Given the description of an element on the screen output the (x, y) to click on. 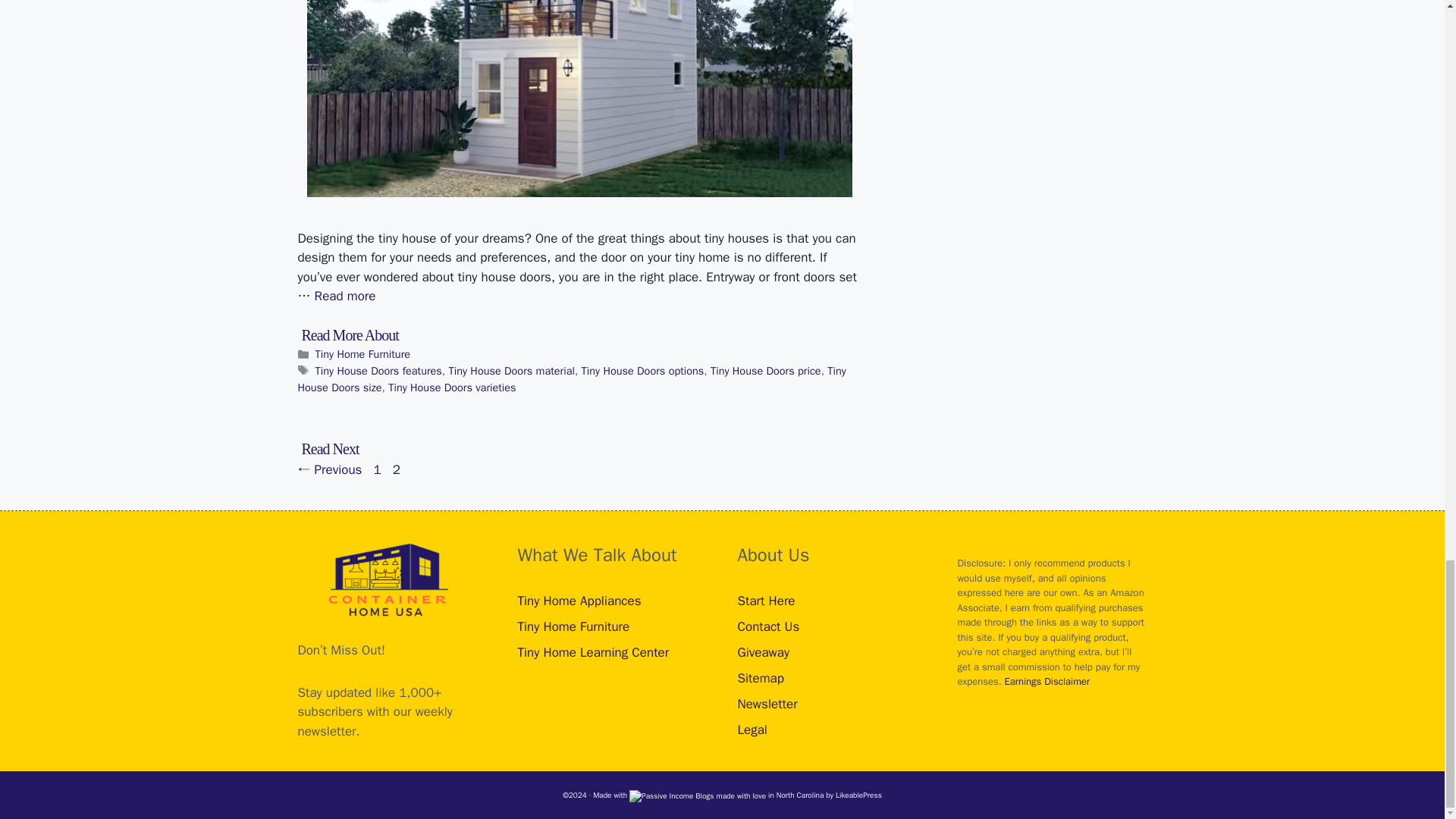
Tiny House Doors price (765, 370)
Tiny House Doors material (511, 370)
Turnkey Passive Income Niche Sites (858, 795)
Read more (344, 295)
Tiny House Doors size (571, 378)
Tiny House Doors Varieties (344, 295)
Tiny House Doors options (642, 370)
Tiny Home Furniture (362, 354)
Tiny House Doors varieties (451, 386)
Tiny House Doors features (378, 370)
